Given the description of an element on the screen output the (x, y) to click on. 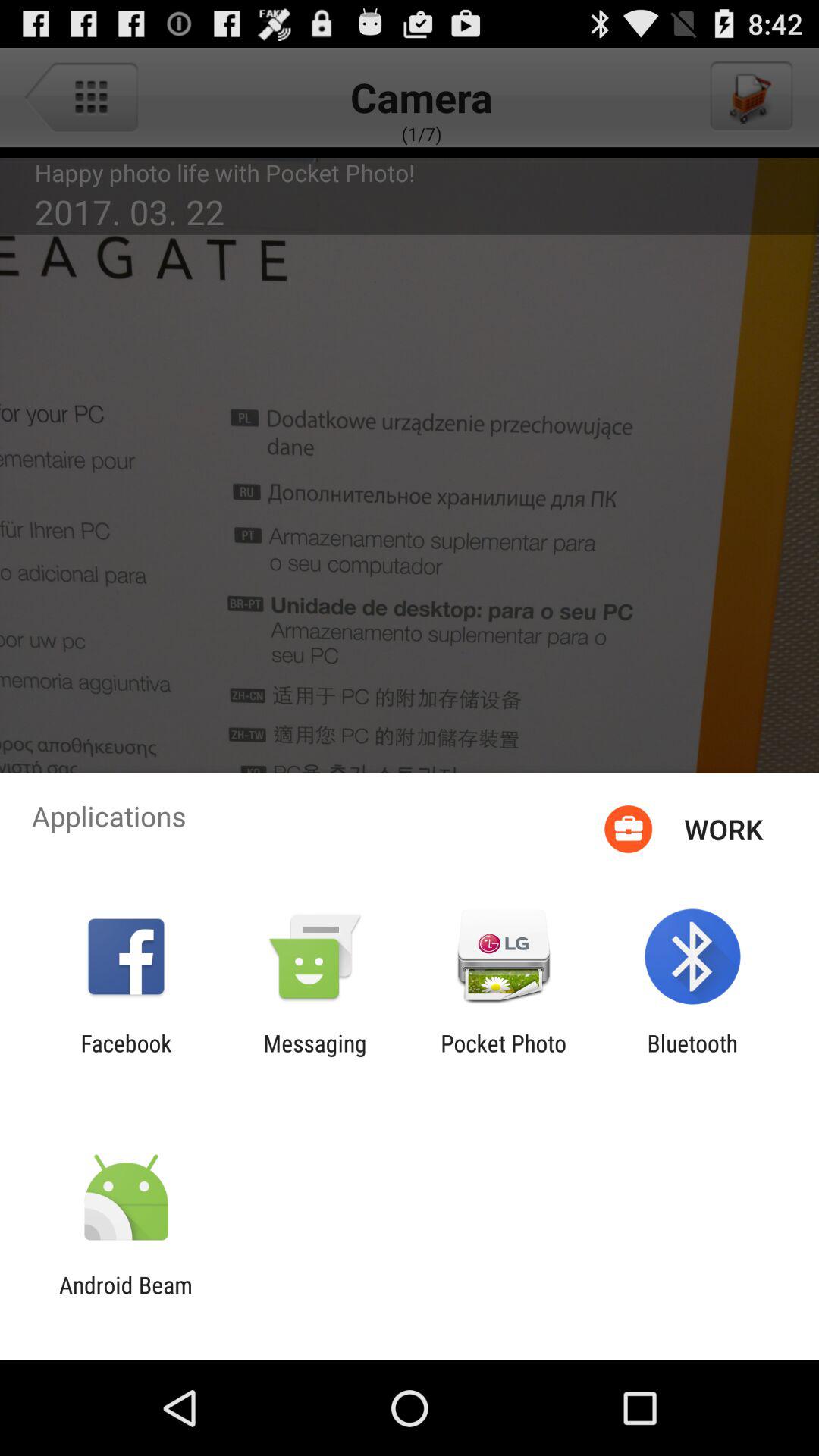
open facebook icon (125, 1056)
